Given the description of an element on the screen output the (x, y) to click on. 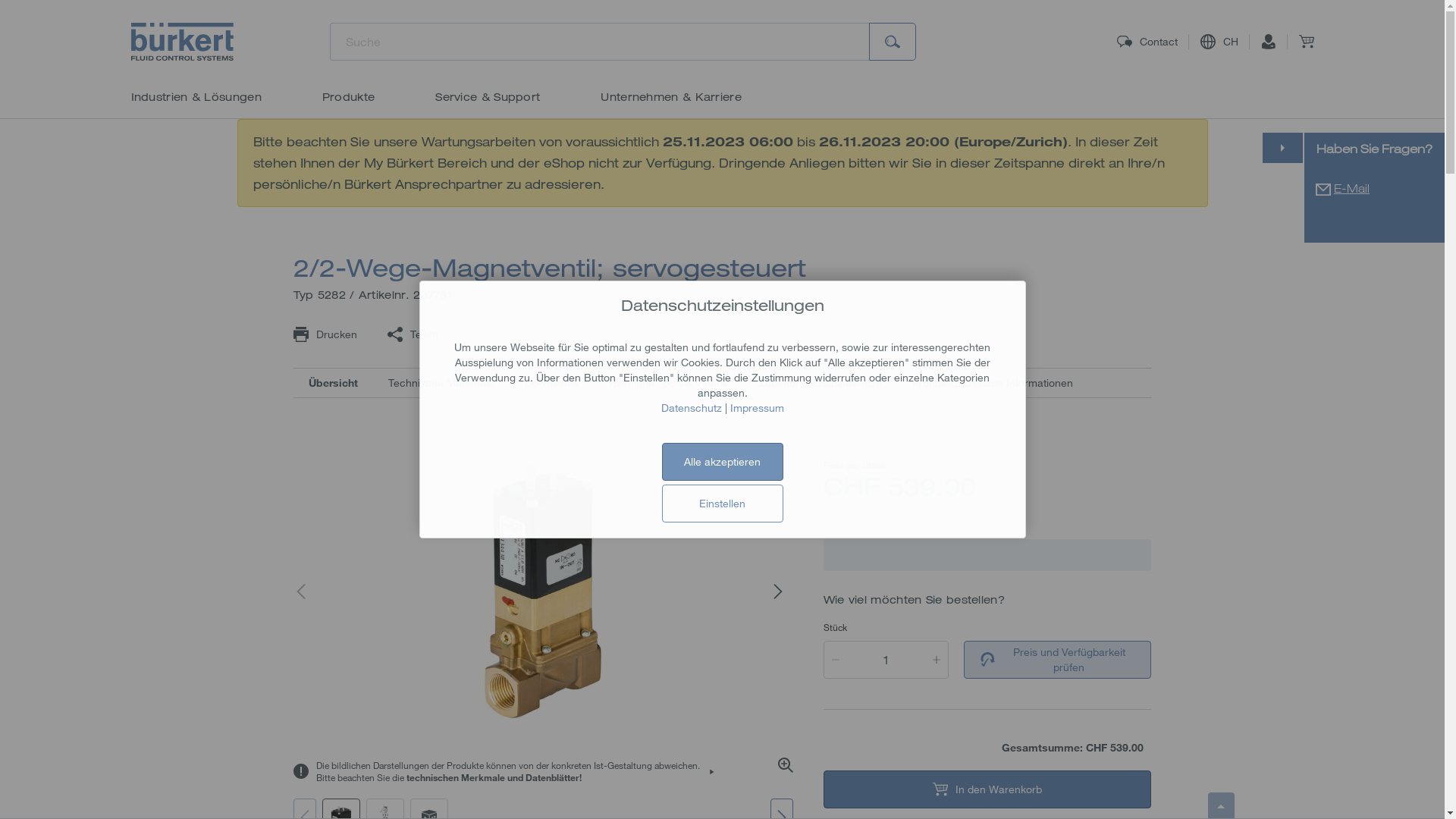
Drucken Element type: text (324, 334)
Buerkert logo Element type: hover (181, 41)
Produkte Element type: text (348, 97)
Service & Support Element type: text (487, 97)
In den Warenkorb Element type: text (987, 789)
Login / Registrieren Element type: hover (1267, 41)
Contact Form Request Element type: hover (1322, 188)
Vorheriges Element type: text (303, 591)
Teilen Element type: text (411, 334)
Datenschutz Element type: text (691, 407)
Einstellen Element type: text (721, 503)
Warenkorb Element type: hover (1305, 41)
Alle akzeptieren Element type: text (721, 461)
CH Element type: text (1218, 41)
Impressum Element type: text (756, 407)
Contact Element type: text (1146, 41)
Unternehmen & Karriere Element type: text (670, 97)
Downloads Element type: text (551, 382)
Produktspezifische Informationen Element type: text (991, 382)
Hilfreiche Tools & Videos Element type: text (667, 382)
Technische Merkmale Element type: text (441, 382)
E-Mail Element type: text (1351, 188)
